Given the description of an element on the screen output the (x, y) to click on. 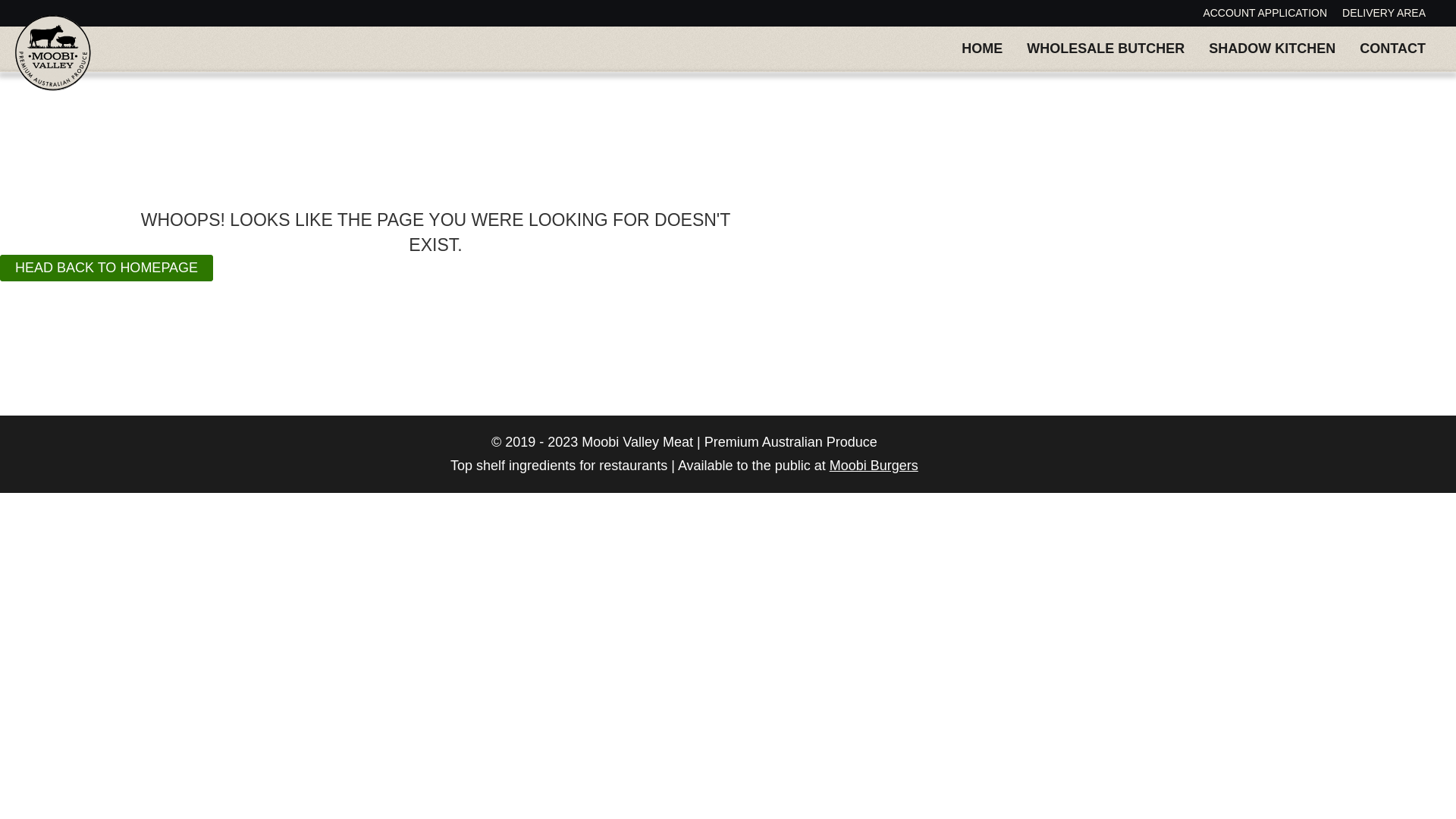
HEAD BACK TO HOMEPAGE Element type: text (106, 267)
ACCOUNT APPLICATION Element type: text (1264, 13)
WHOLESALE BUTCHER Element type: text (1105, 49)
HOME Element type: text (981, 49)
CONTACT Element type: text (1392, 49)
SHADOW KITCHEN Element type: text (1271, 49)
Moobi Burgers Element type: text (873, 465)
DELIVERY AREA Element type: text (1383, 13)
